Given the description of an element on the screen output the (x, y) to click on. 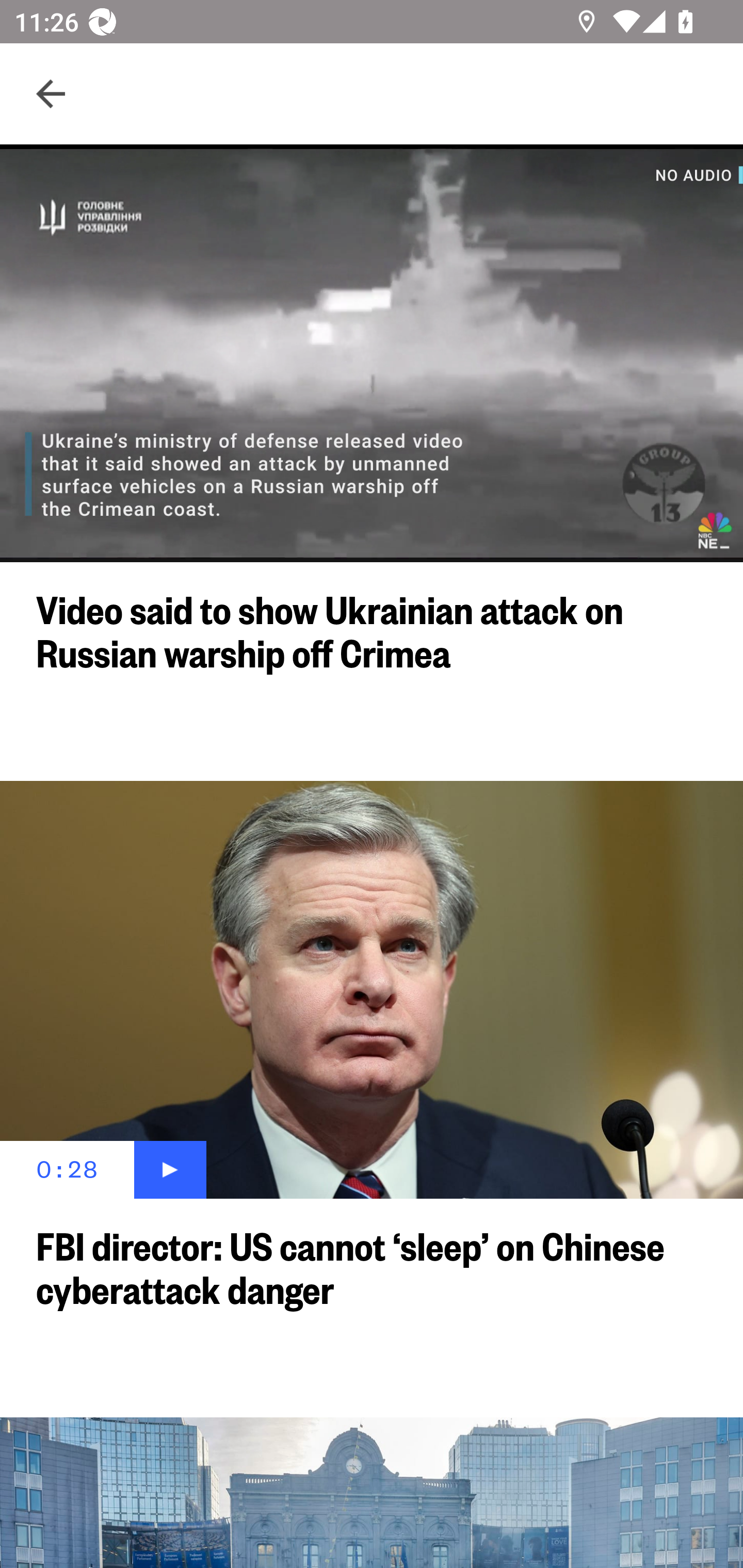
Navigate up (50, 93)
